Given the description of an element on the screen output the (x, y) to click on. 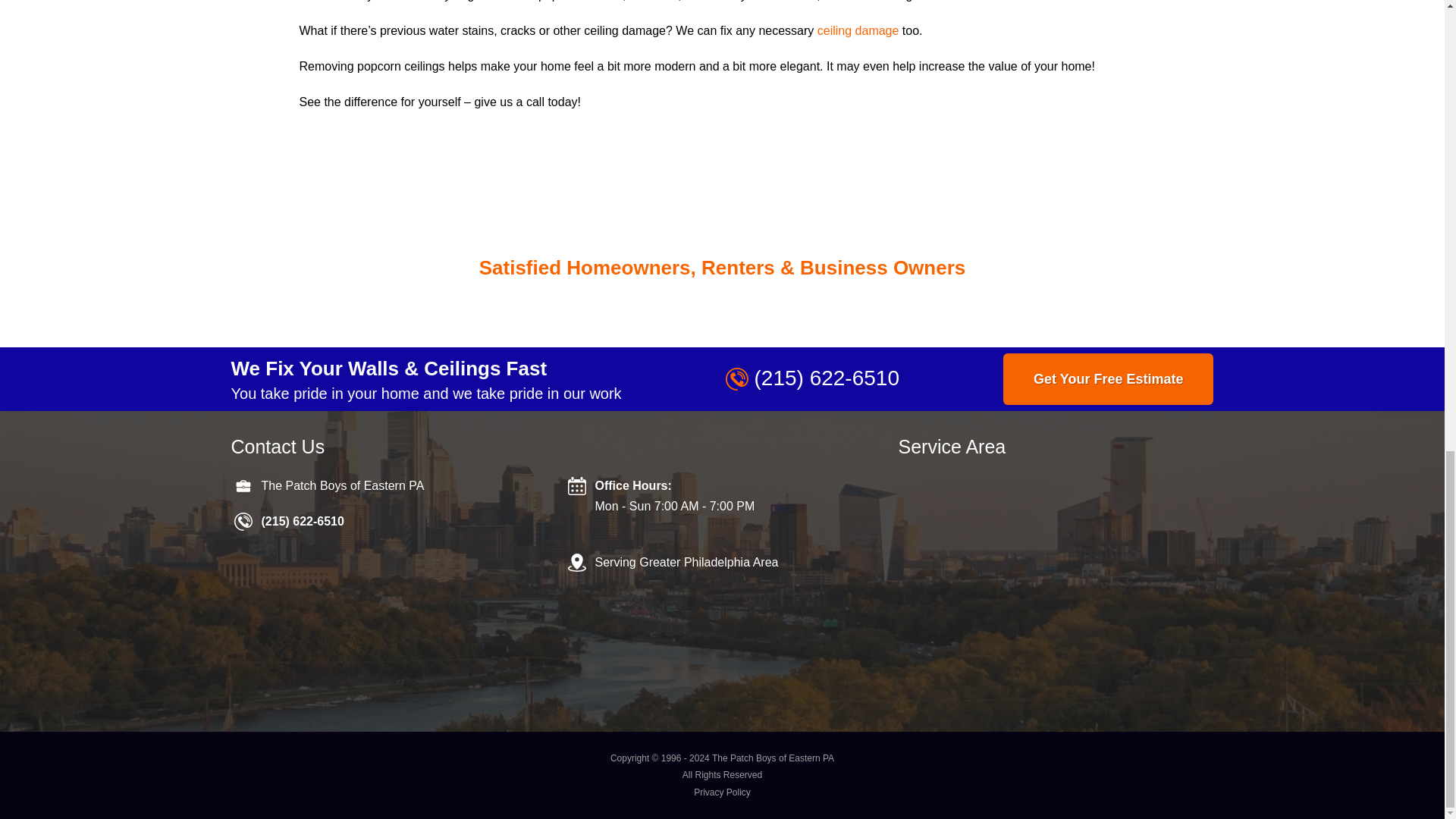
ceiling damage (857, 30)
Privacy Policy (722, 792)
Get Your Free Estimate (1107, 378)
